Given the description of an element on the screen output the (x, y) to click on. 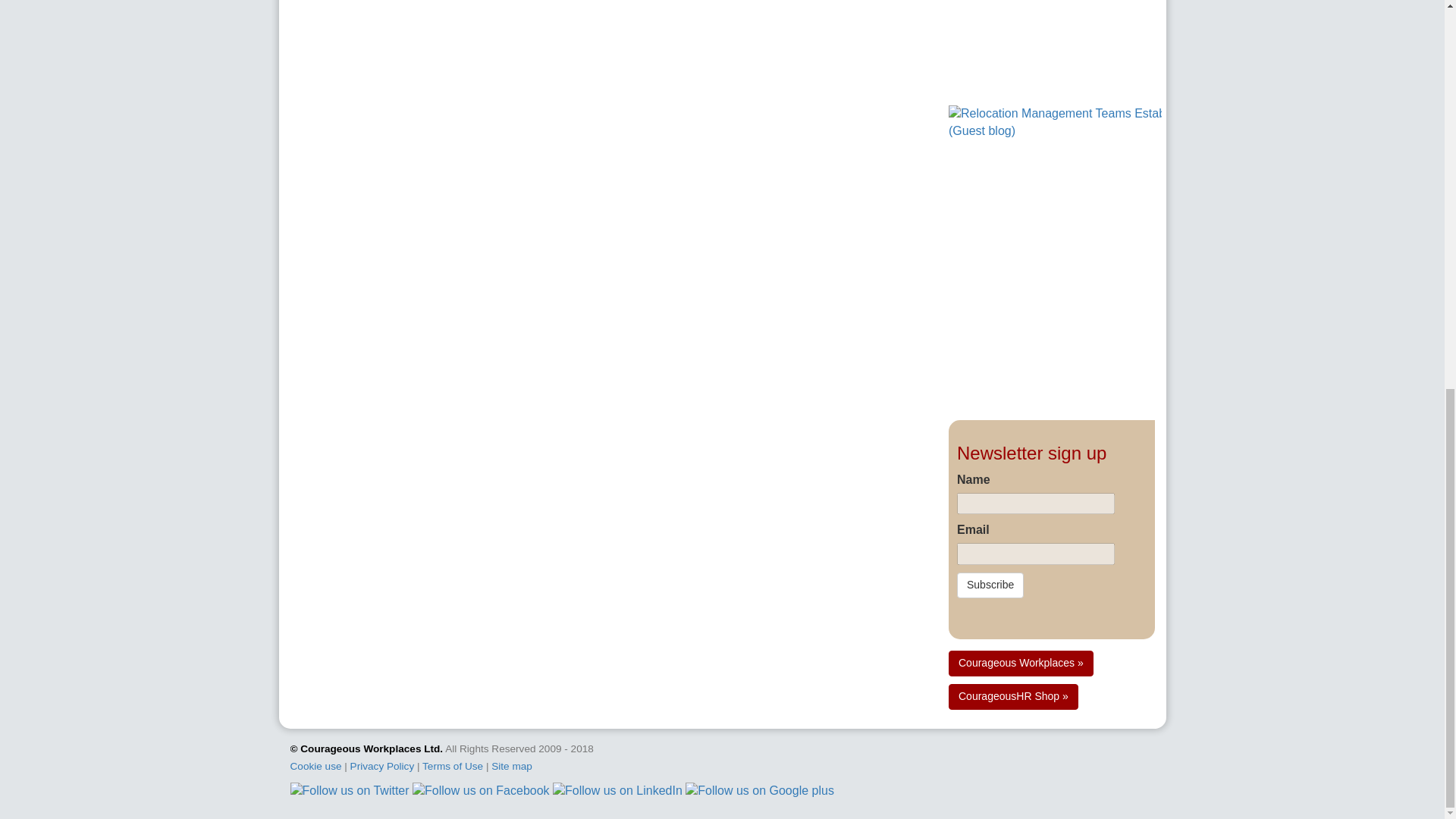
Privacy Policy (382, 766)
Cookie use (314, 766)
Site map (512, 766)
Subscribe (989, 585)
Terms of Use (452, 766)
